Given the description of an element on the screen output the (x, y) to click on. 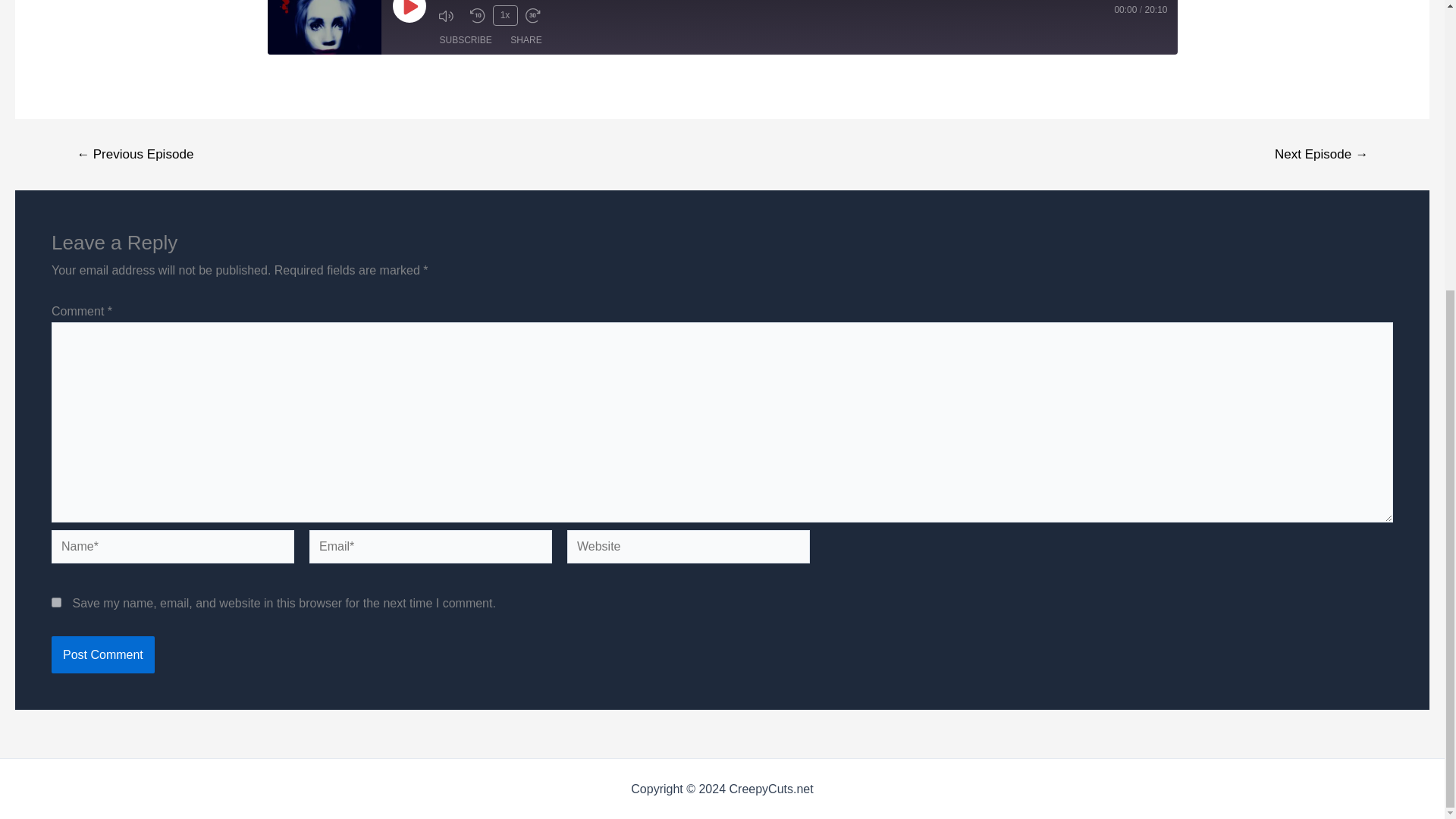
Playback Speed (505, 14)
Play Episode (409, 11)
Post Comment (102, 655)
SHARE (525, 39)
Rewind 10 Seconds (477, 15)
Post Comment (102, 655)
Fast Forward 30 seconds (536, 15)
SUBSCRIBE (465, 39)
Creepy Cuts Podcast (323, 27)
1x (505, 14)
Play (409, 11)
Subscribe (465, 39)
Rewind 10 seconds (477, 15)
yes (55, 602)
Fast Forward 30 seconds (536, 15)
